Given the description of an element on the screen output the (x, y) to click on. 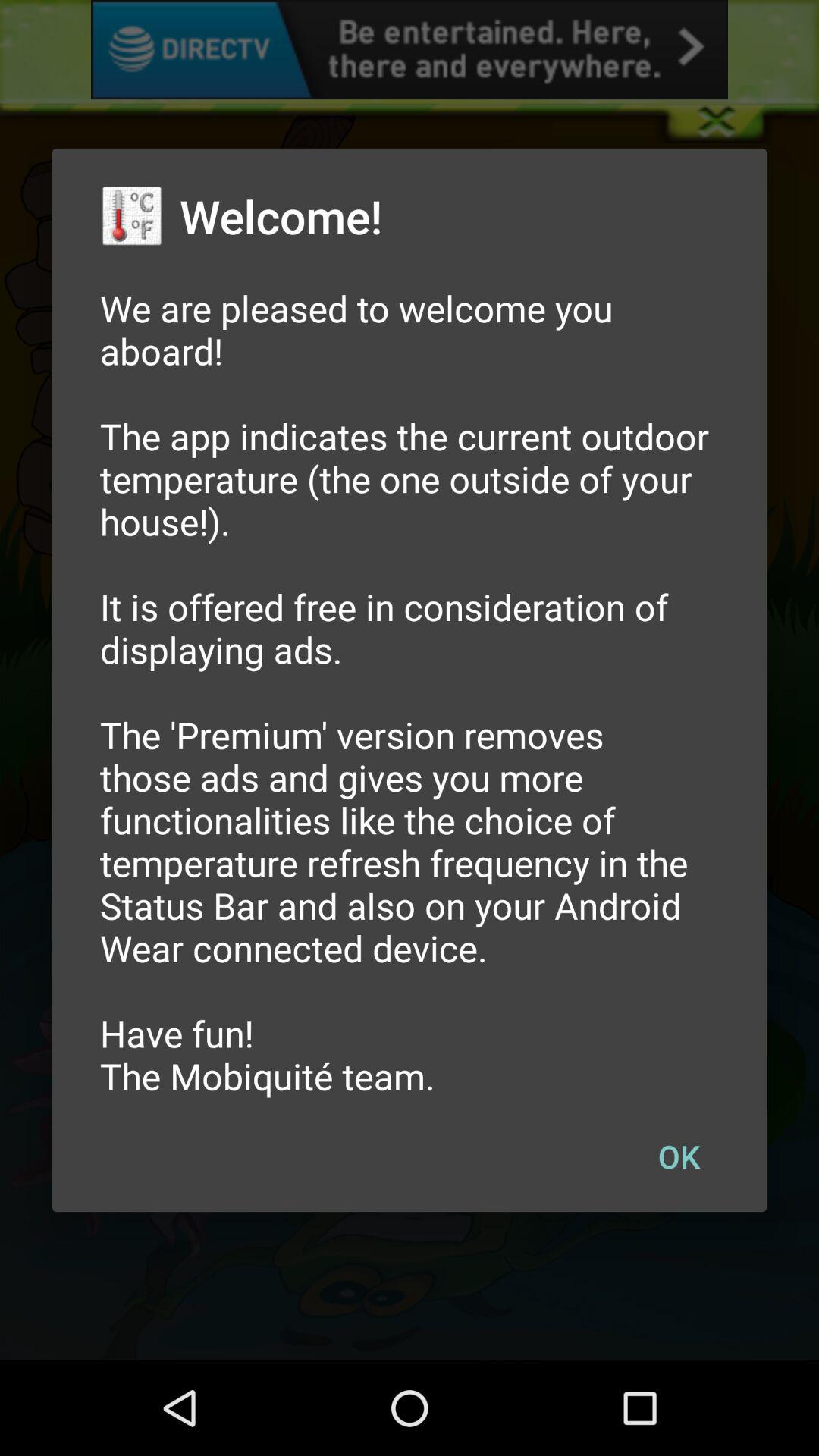
turn on the ok at the bottom right corner (678, 1156)
